Given the description of an element on the screen output the (x, y) to click on. 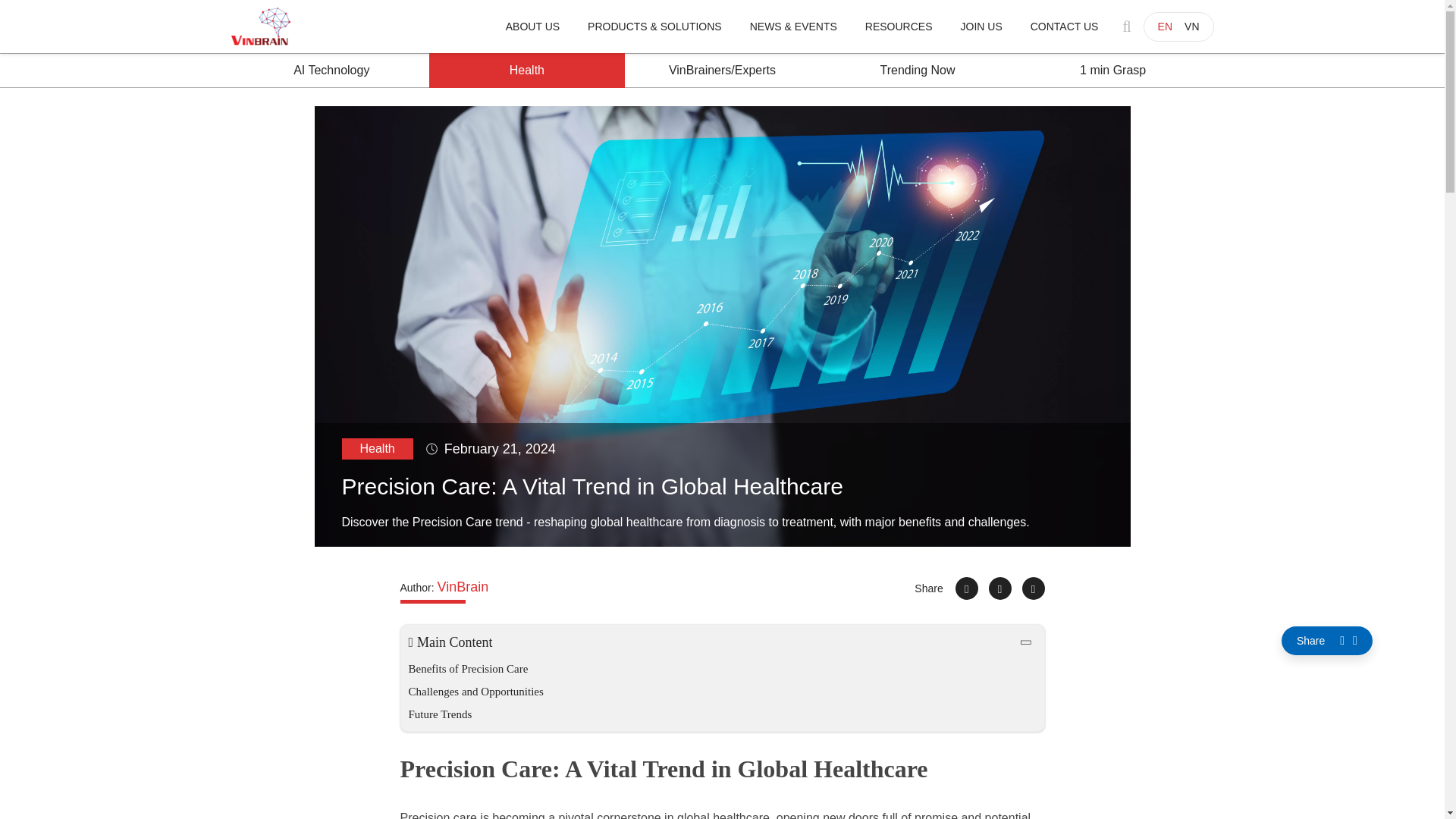
Join us (981, 26)
VN (1191, 26)
EN (1164, 26)
Contact Us (1063, 26)
About us (532, 26)
VN (1191, 26)
RESOURCES (898, 26)
Resources (898, 26)
JOIN US (981, 26)
Home (259, 26)
EN (1164, 26)
ABOUT US (532, 26)
CONTACT US (1063, 26)
